Given the description of an element on the screen output the (x, y) to click on. 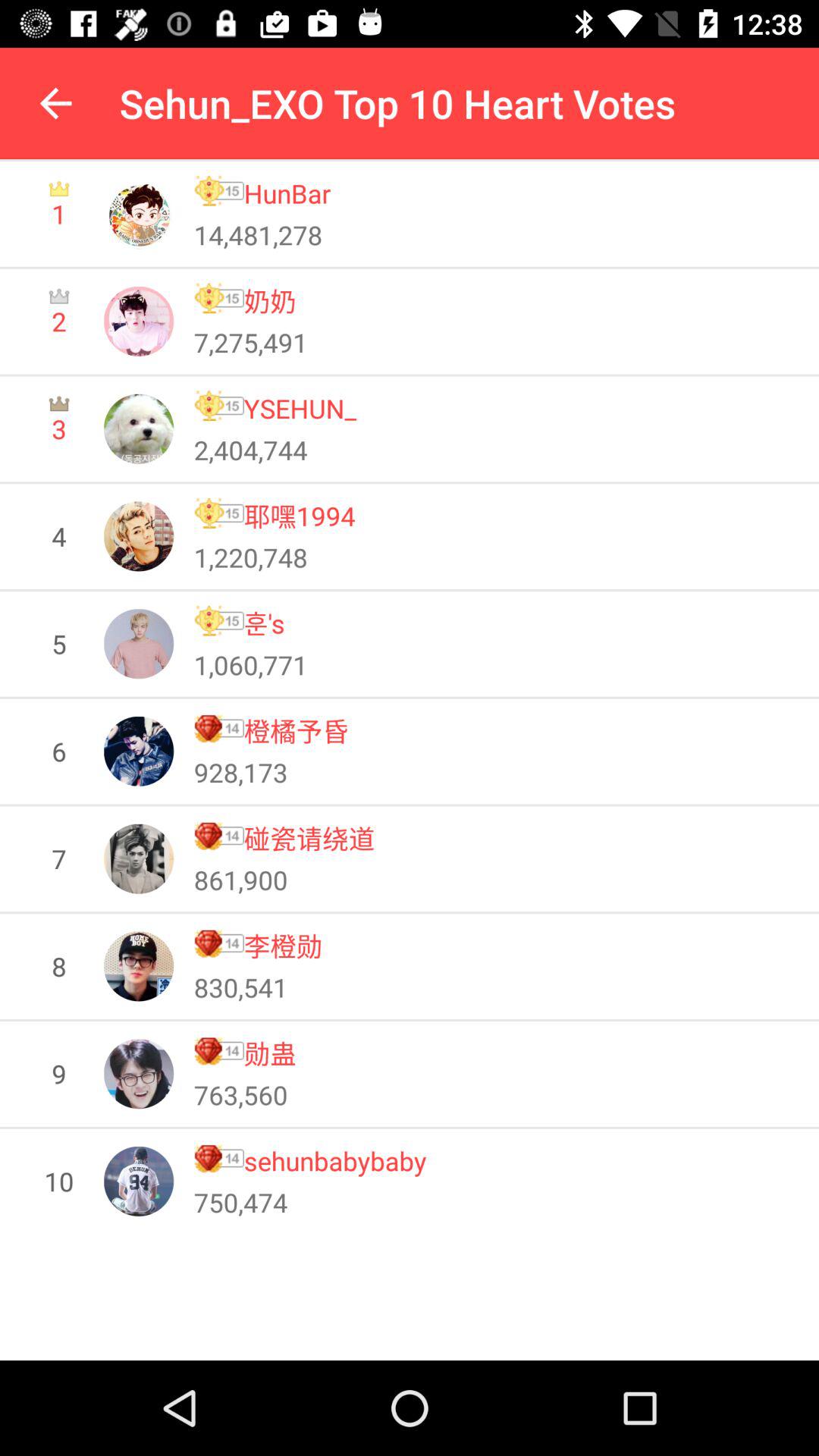
flip to the 6 item (58, 750)
